Given the description of an element on the screen output the (x, y) to click on. 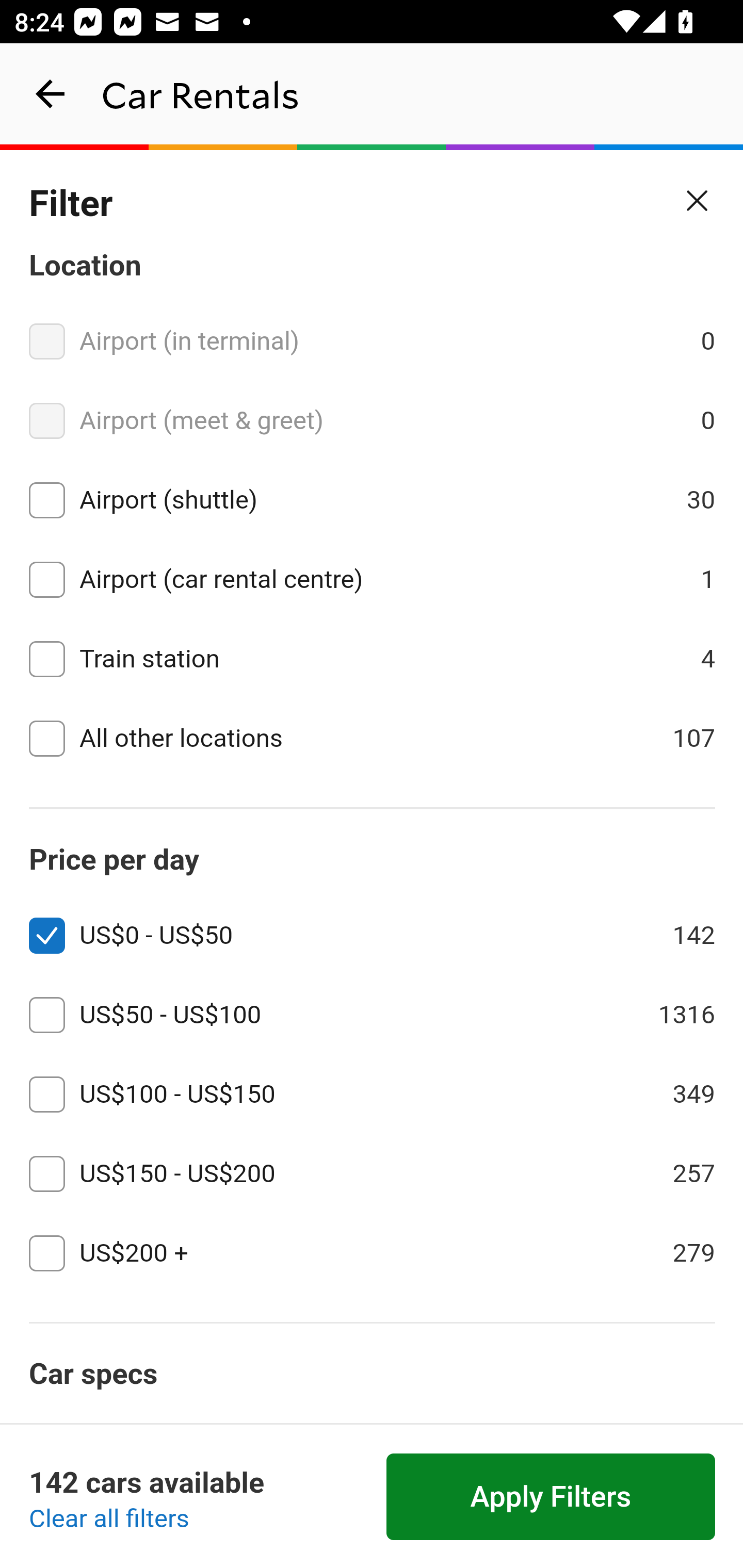
navigation_button (50, 93)
Close (697, 201)
Apply Filters (551, 1497)
Clear all filters (108, 1519)
